Given the description of an element on the screen output the (x, y) to click on. 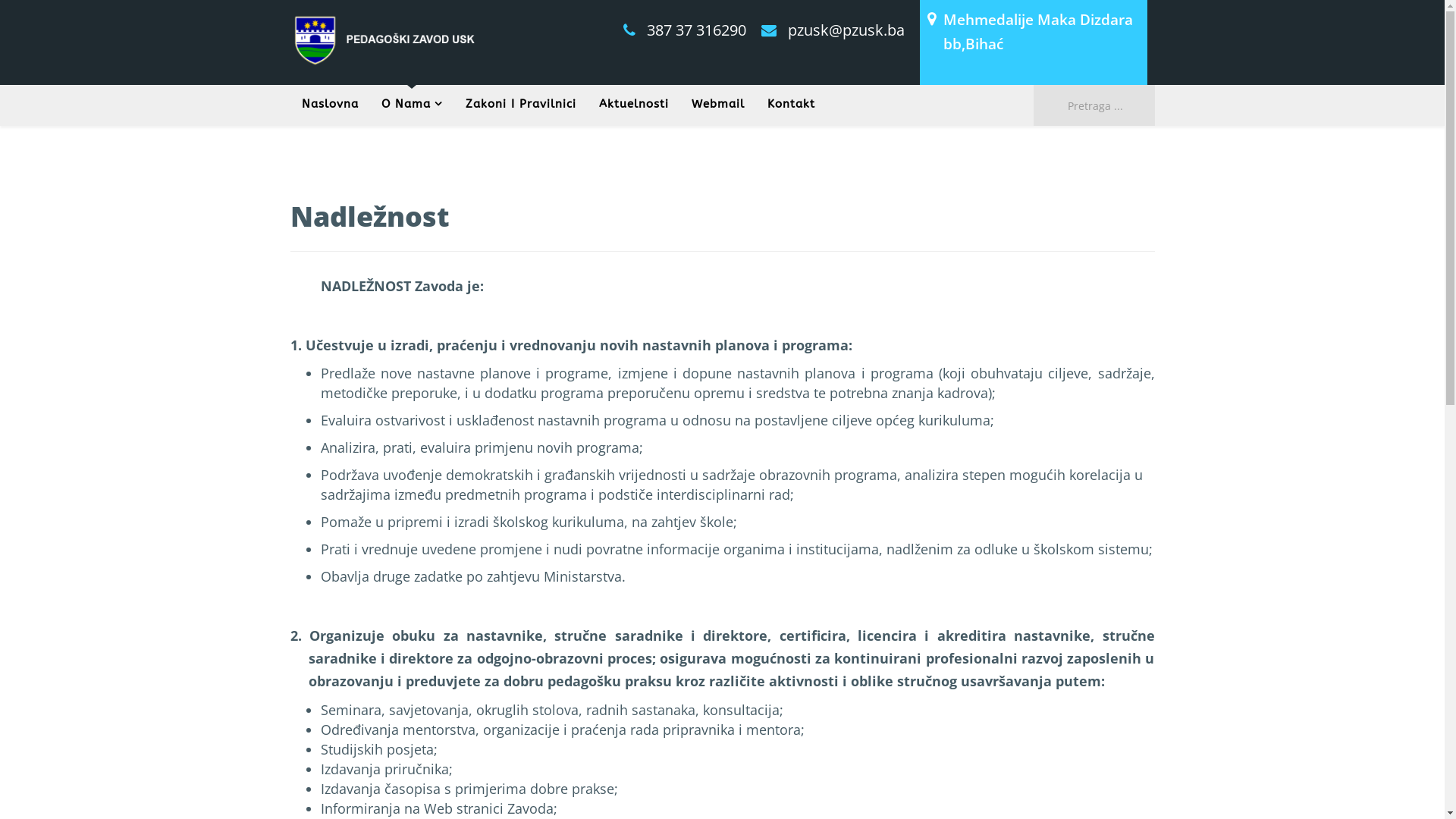
387 37 316290 Element type: text (695, 29)
Webmail Element type: text (717, 103)
O Nama Element type: text (412, 103)
Naslovna Element type: text (329, 103)
pzusk@pzusk.ba Element type: text (845, 29)
Kontakt Element type: text (790, 103)
Aktuelnosti Element type: text (632, 103)
Zakoni I Pravilnici Element type: text (519, 103)
